Given the description of an element on the screen output the (x, y) to click on. 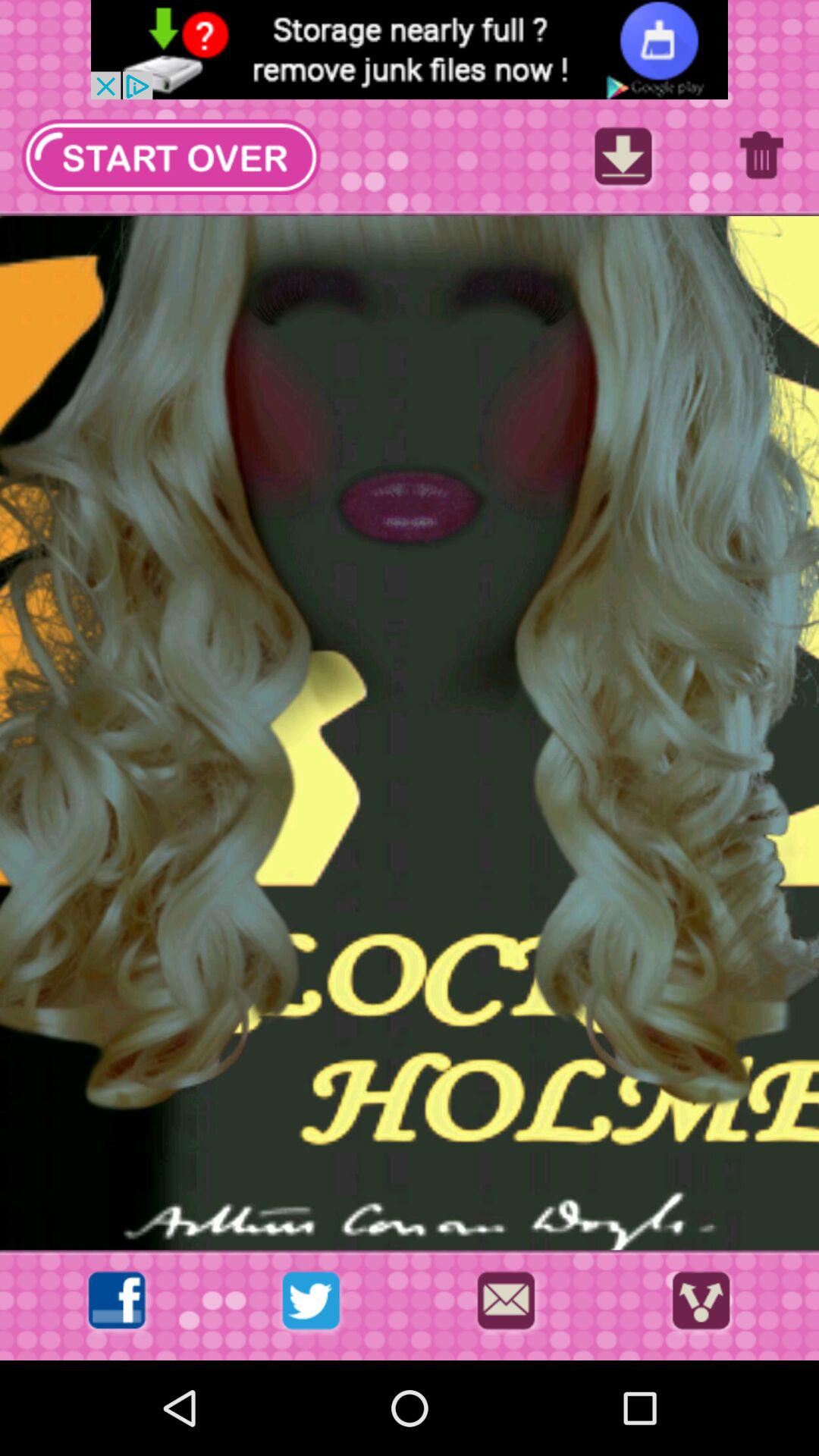
share with twitter (310, 1305)
